Given the description of an element on the screen output the (x, y) to click on. 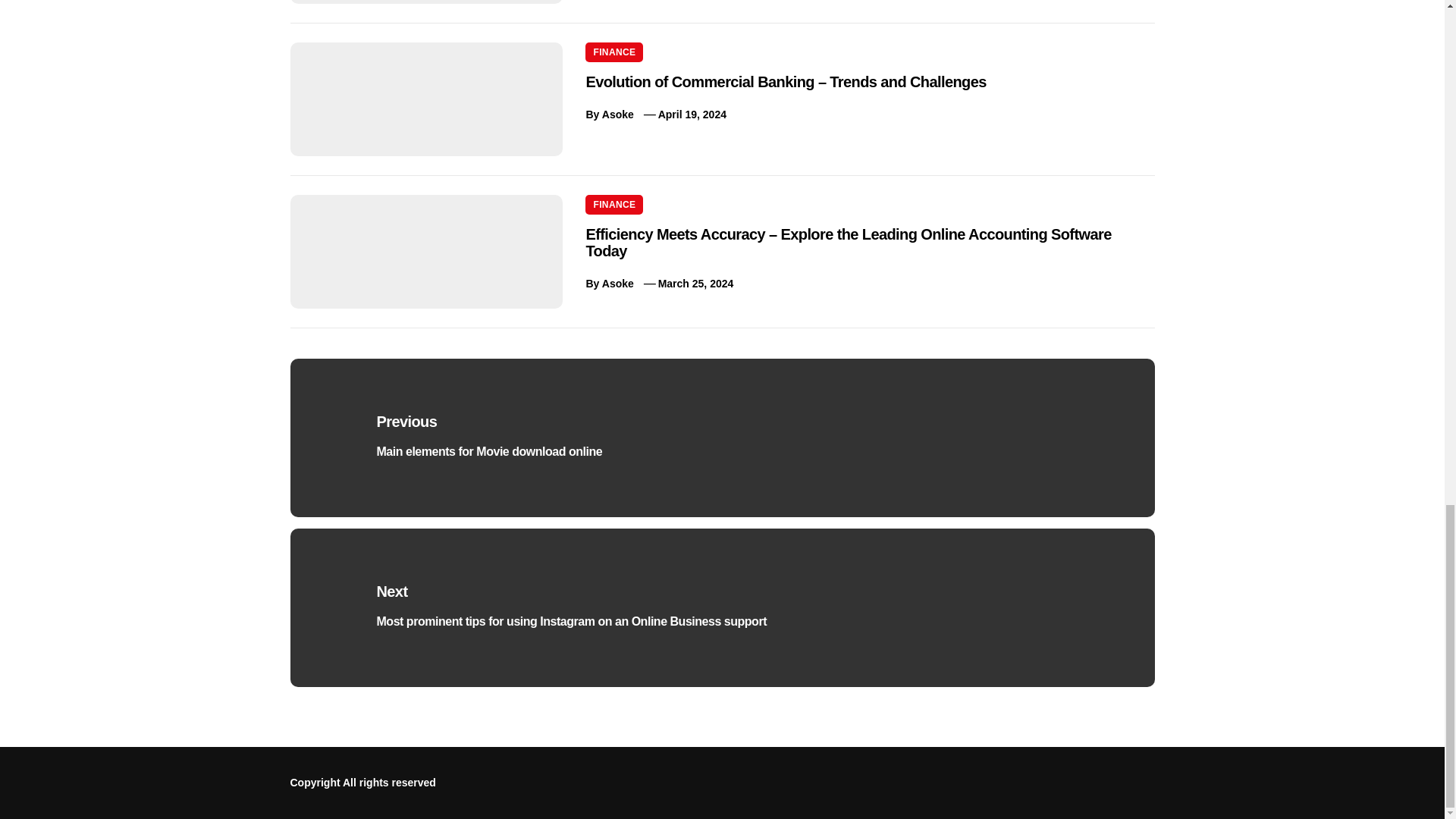
FINANCE (614, 52)
Asoke (617, 114)
